Given the description of an element on the screen output the (x, y) to click on. 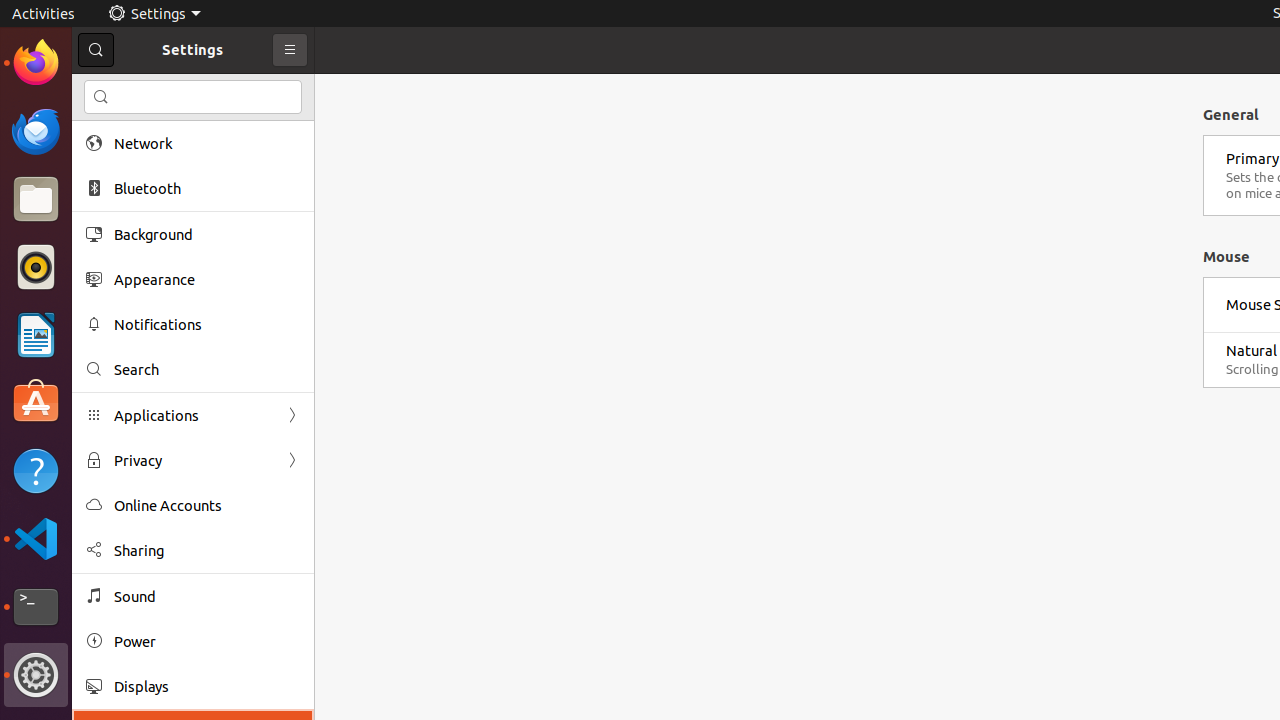
Online Accounts Element type: label (207, 505)
Sharing Element type: label (207, 550)
Search Element type: label (207, 369)
Notifications Element type: label (207, 324)
